Given the description of an element on the screen output the (x, y) to click on. 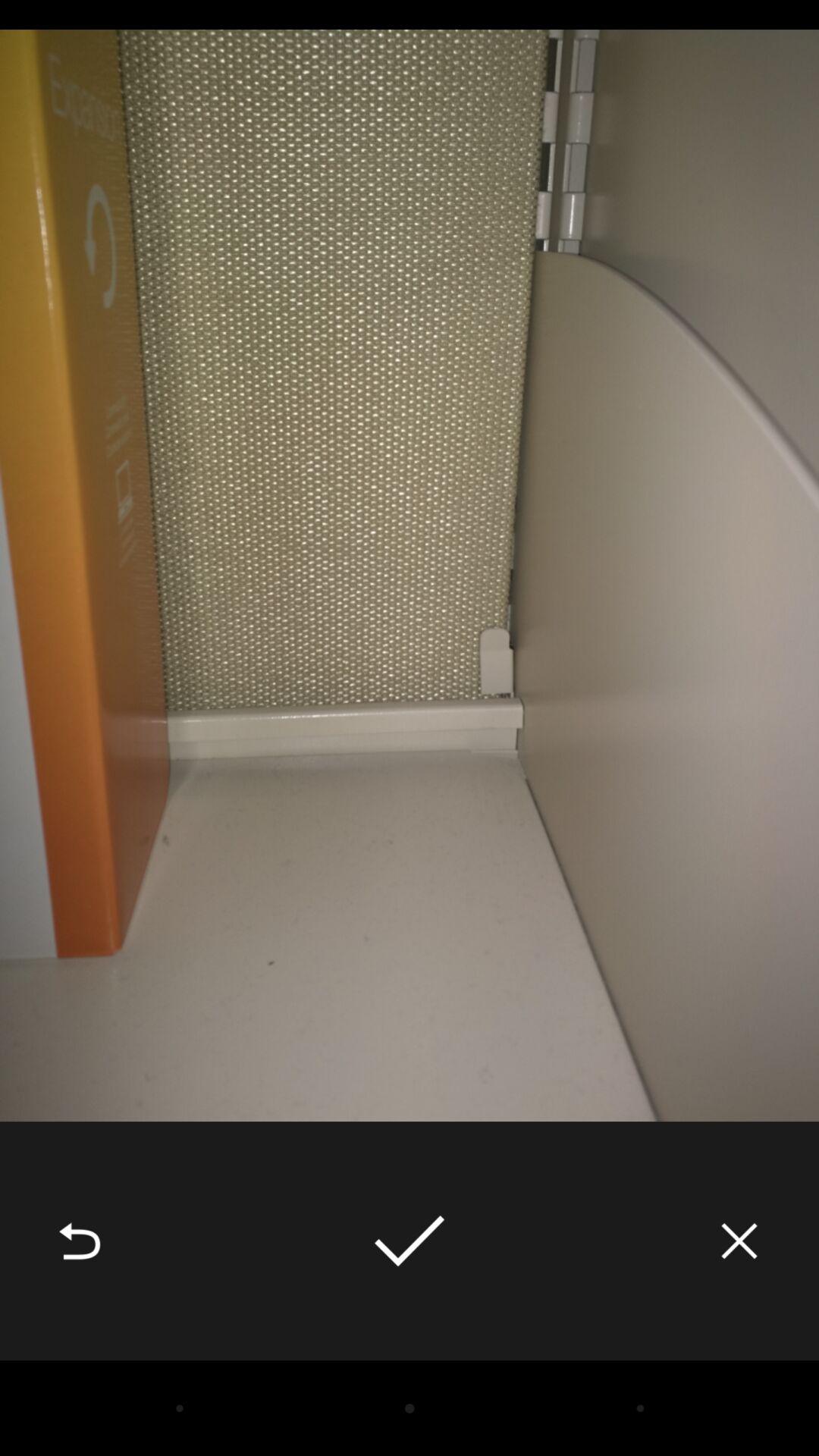
turn on icon at the bottom left corner (79, 1240)
